Given the description of an element on the screen output the (x, y) to click on. 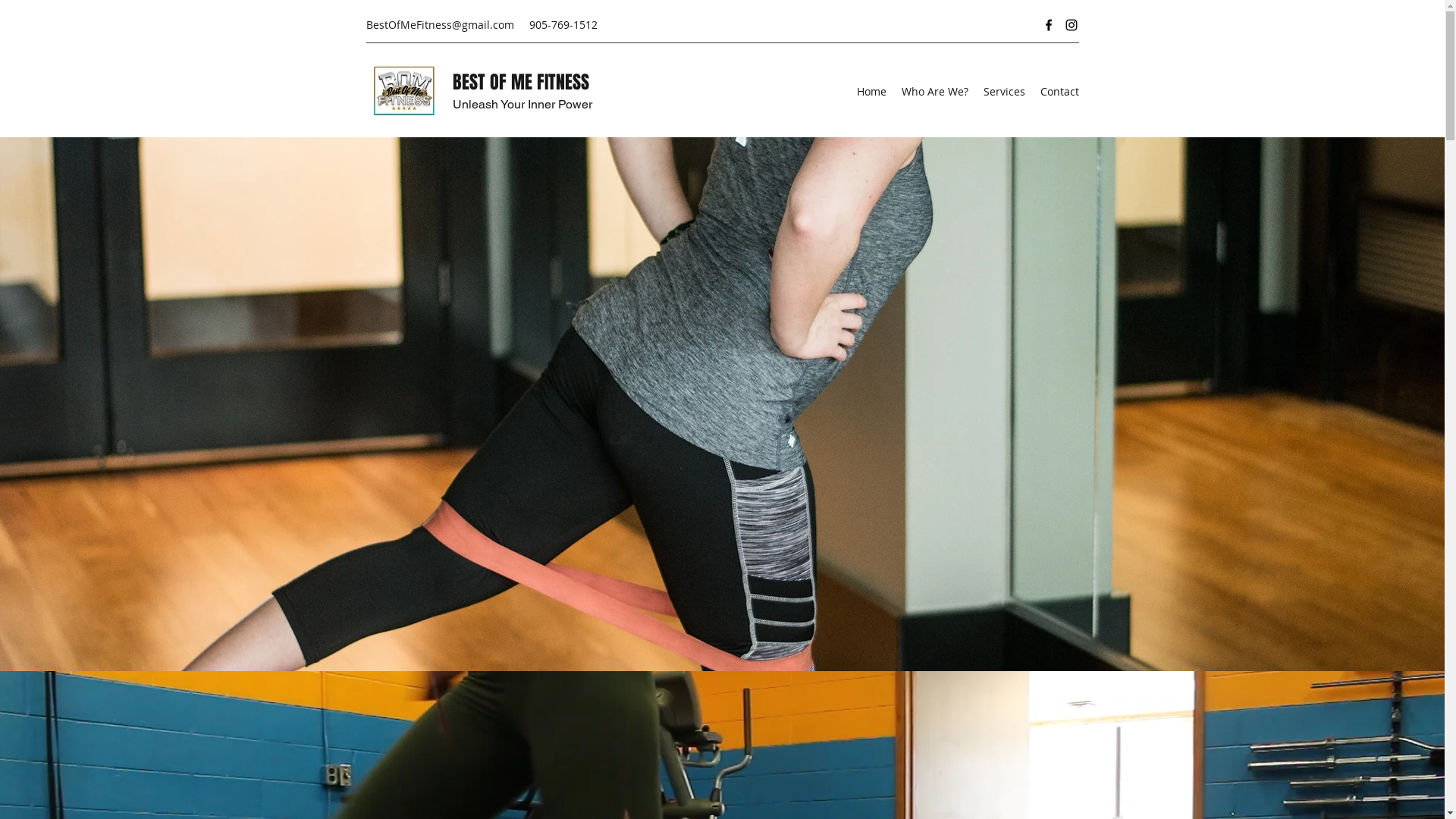
Home Element type: text (871, 91)
Contact Element type: text (1059, 91)
Who Are We? Element type: text (934, 91)
BestOfMeFitness@gmail.com Element type: text (439, 24)
Services Element type: text (1003, 91)
